Given the description of an element on the screen output the (x, y) to click on. 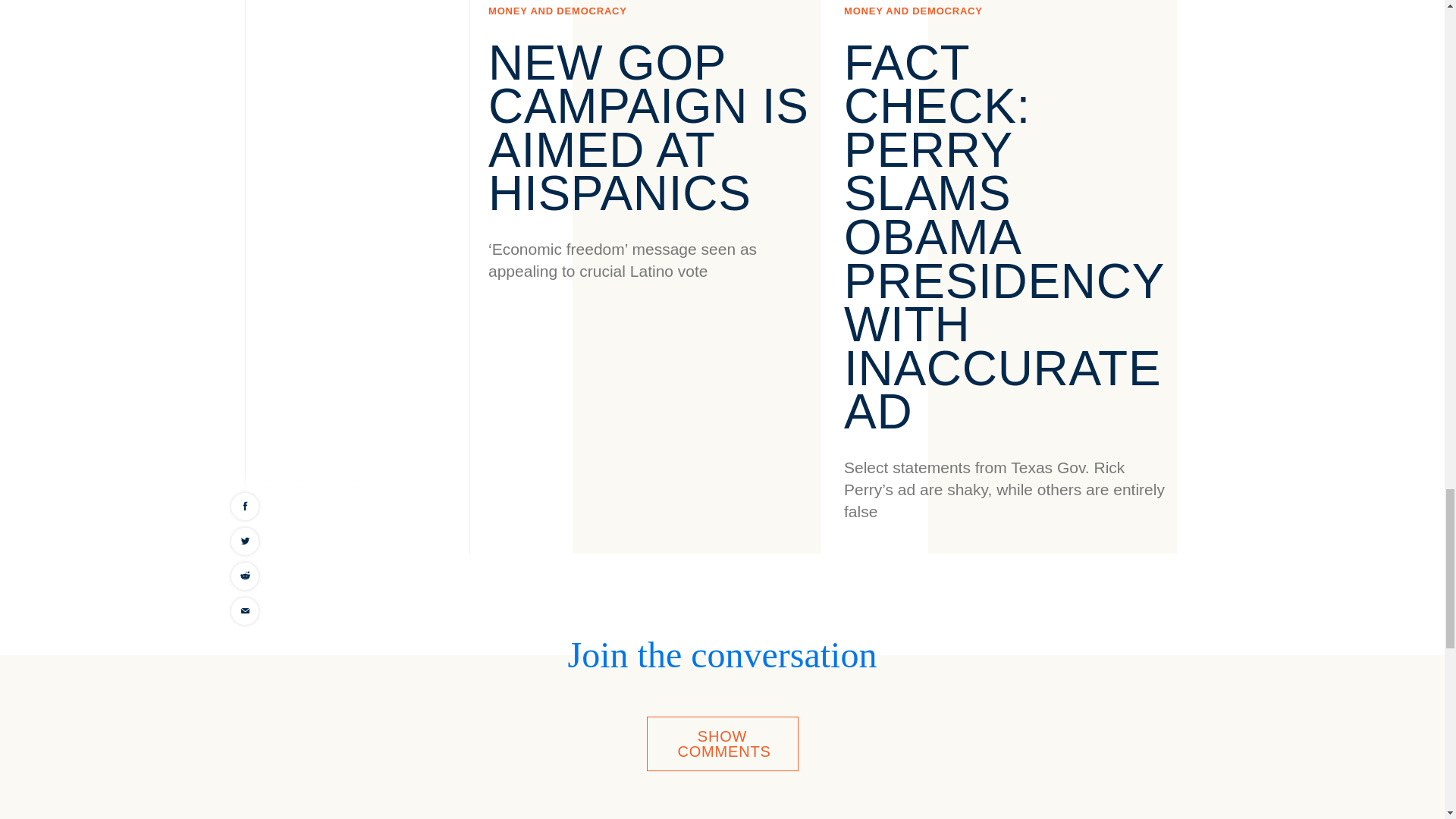
MONEY AND DEMOCRACY (913, 10)
MONEY AND DEMOCRACY (557, 10)
NEW GOP CAMPAIGN IS AIMED AT HISPANICS (648, 128)
SHOW COMMENTS (721, 742)
